Given the description of an element on the screen output the (x, y) to click on. 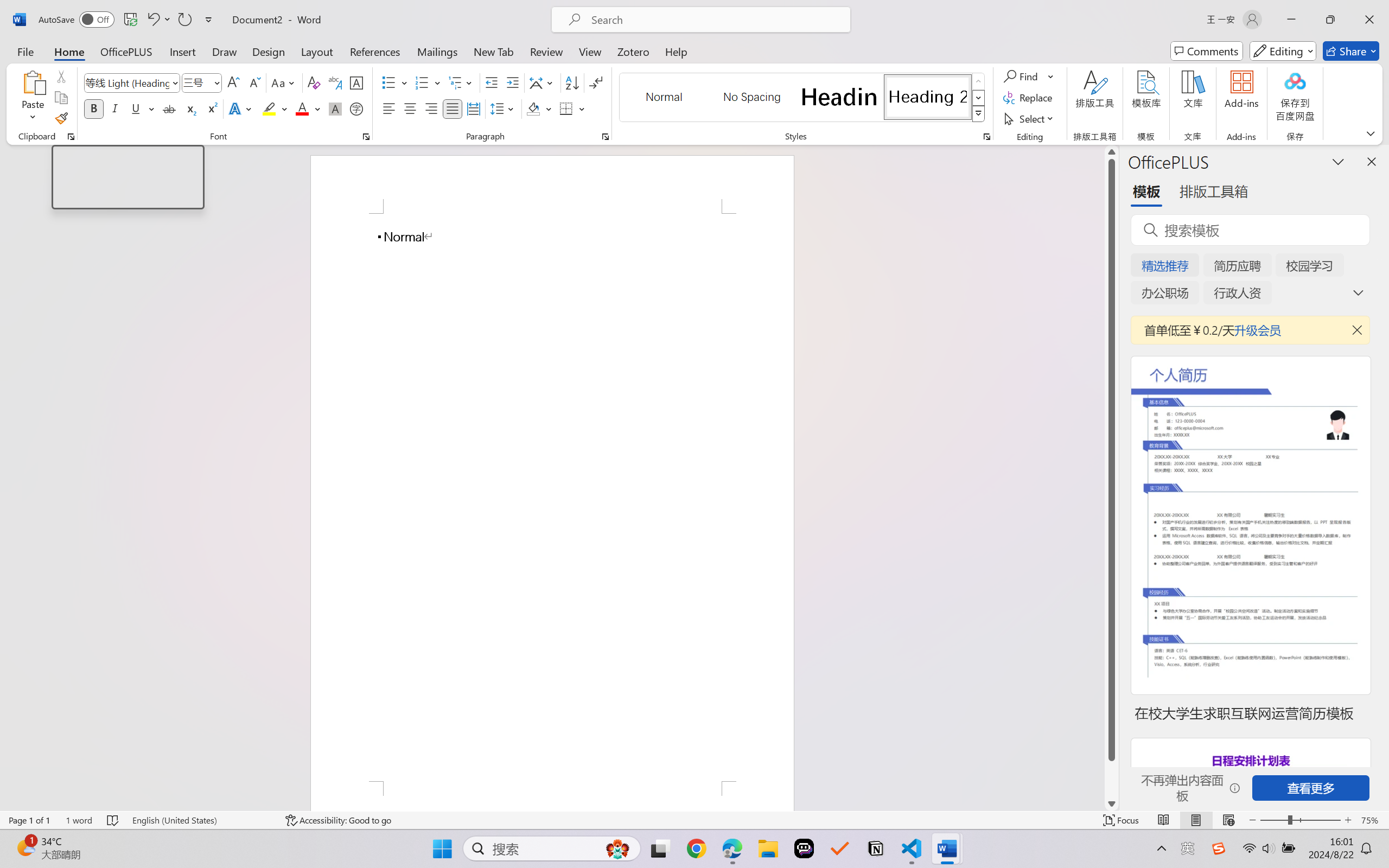
Font (132, 82)
Zoom In (1348, 819)
Class: MsoCommandBar (694, 819)
File Tab (24, 51)
Line and Paragraph Spacing (503, 108)
Shading (539, 108)
Numbering (421, 82)
Layout (316, 51)
View (589, 51)
Italic (115, 108)
Distributed (473, 108)
Clear Formatting (313, 82)
